Given the description of an element on the screen output the (x, y) to click on. 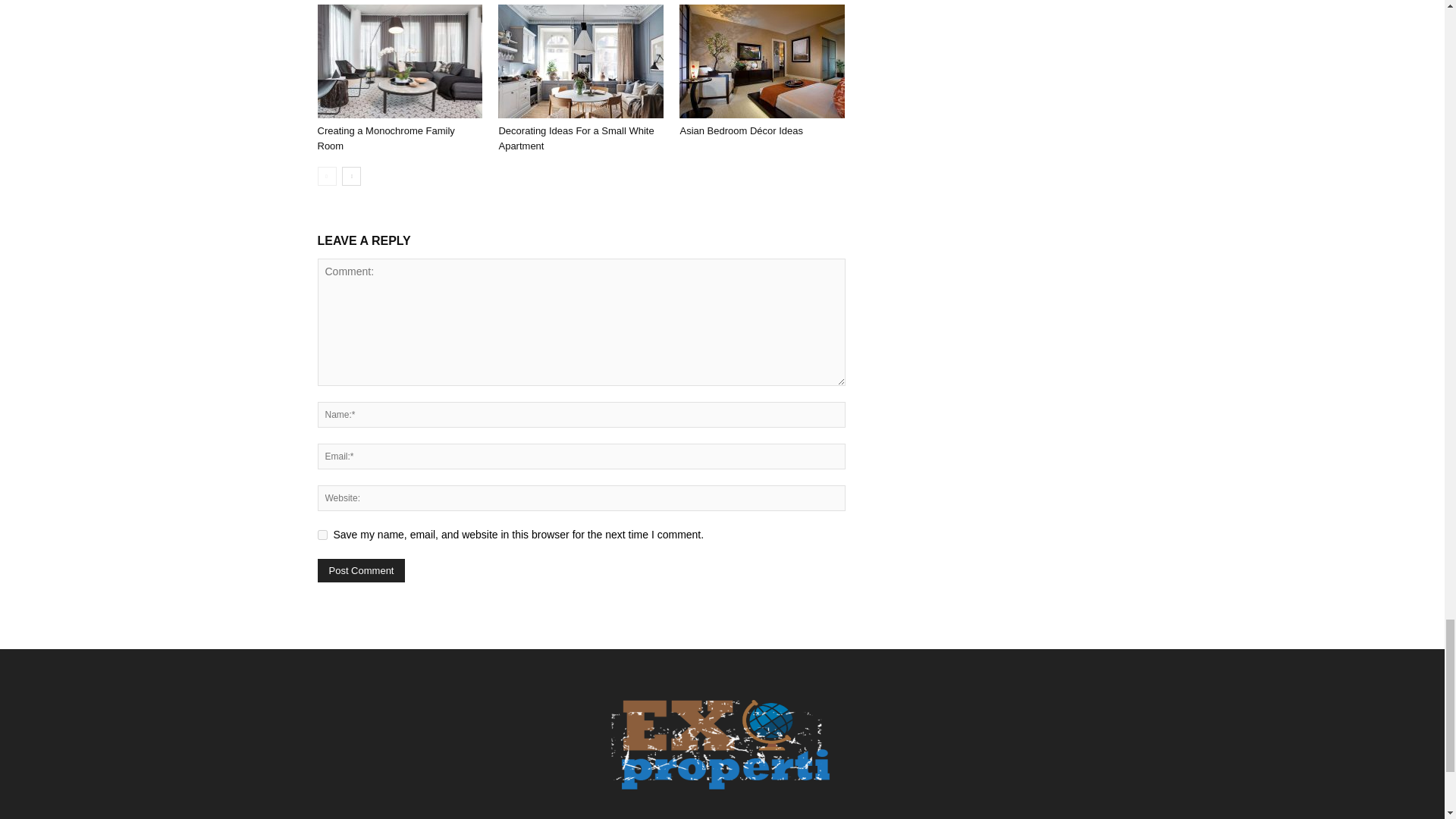
yes (321, 534)
Post Comment (360, 570)
